Given the description of an element on the screen output the (x, y) to click on. 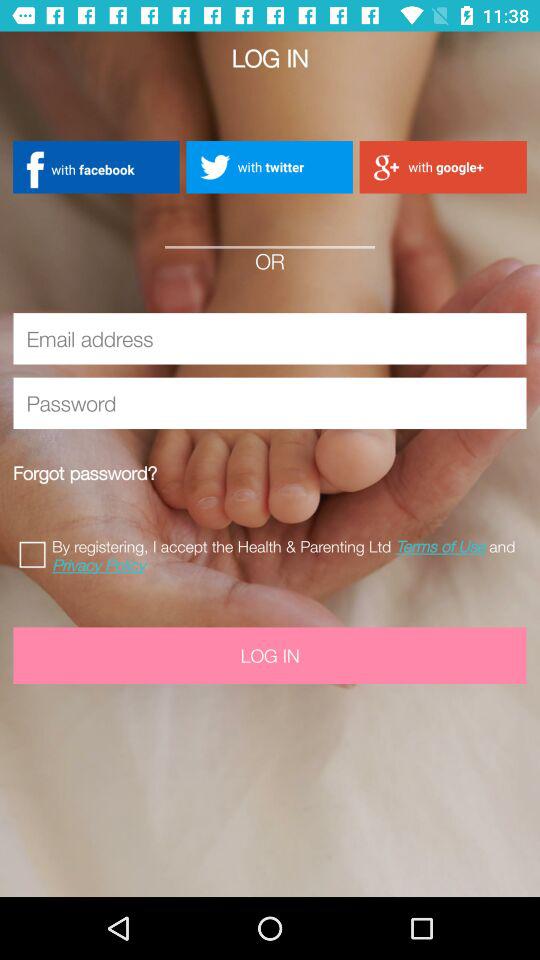
password input field (269, 403)
